Given the description of an element on the screen output the (x, y) to click on. 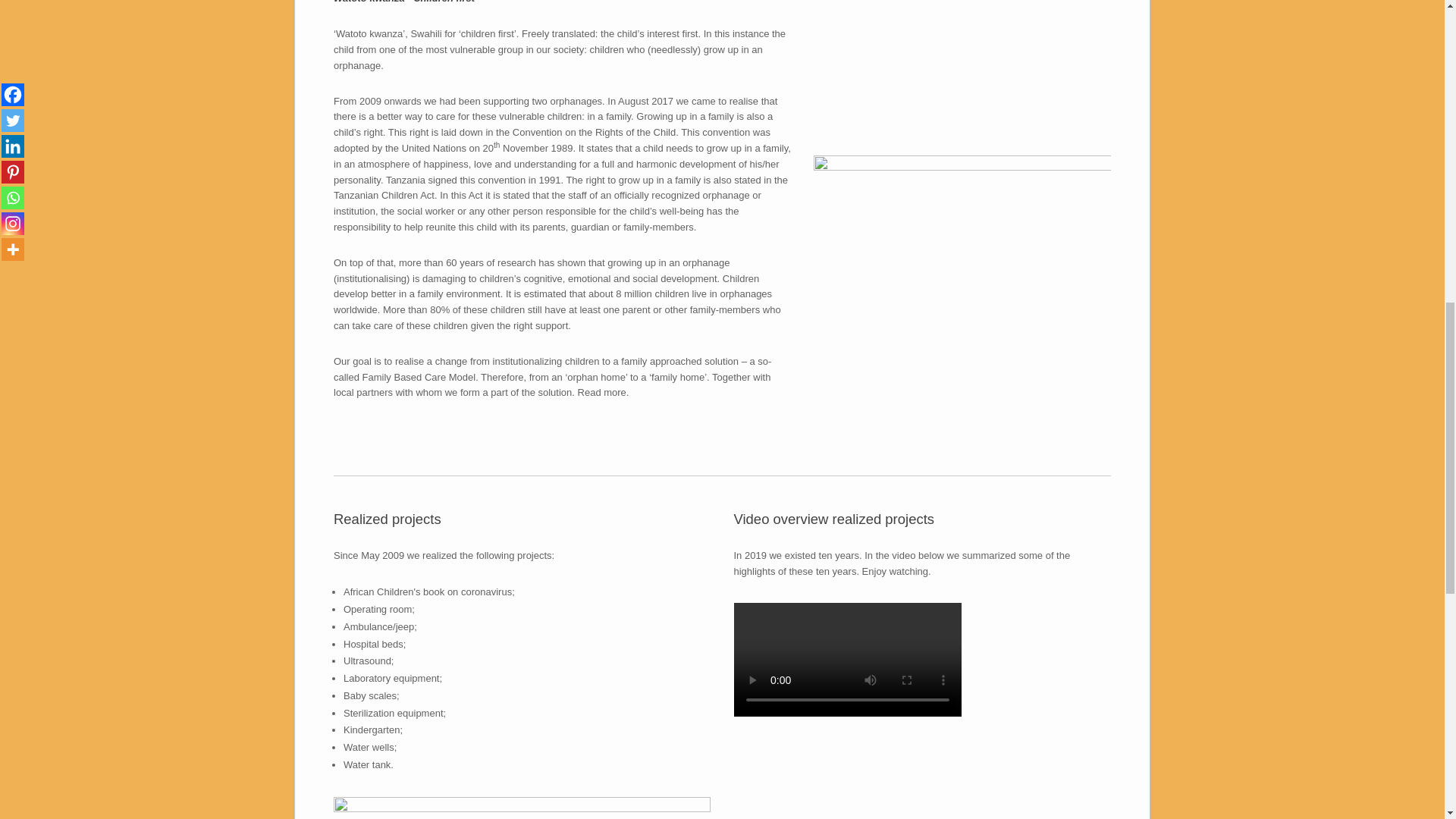
steunons afbeelding (521, 807)
